Given the description of an element on the screen output the (x, y) to click on. 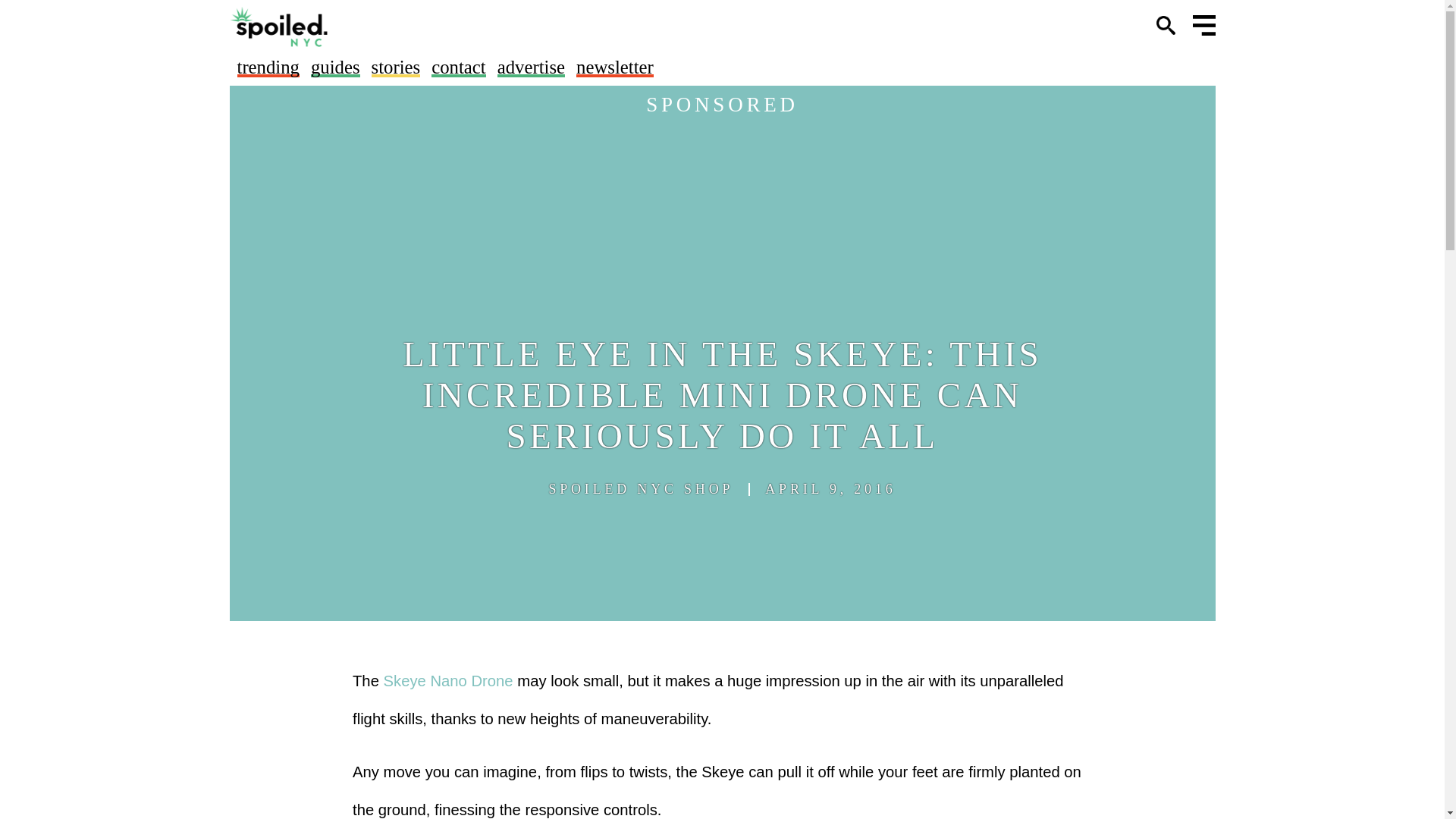
SPOILED NYC SHOP (640, 489)
trending (266, 66)
stories (395, 66)
Skeye Nano Drone (448, 680)
contact (457, 66)
guides (335, 66)
newsletter (614, 66)
SPONSORED (721, 104)
advertise (530, 66)
